Given the description of an element on the screen output the (x, y) to click on. 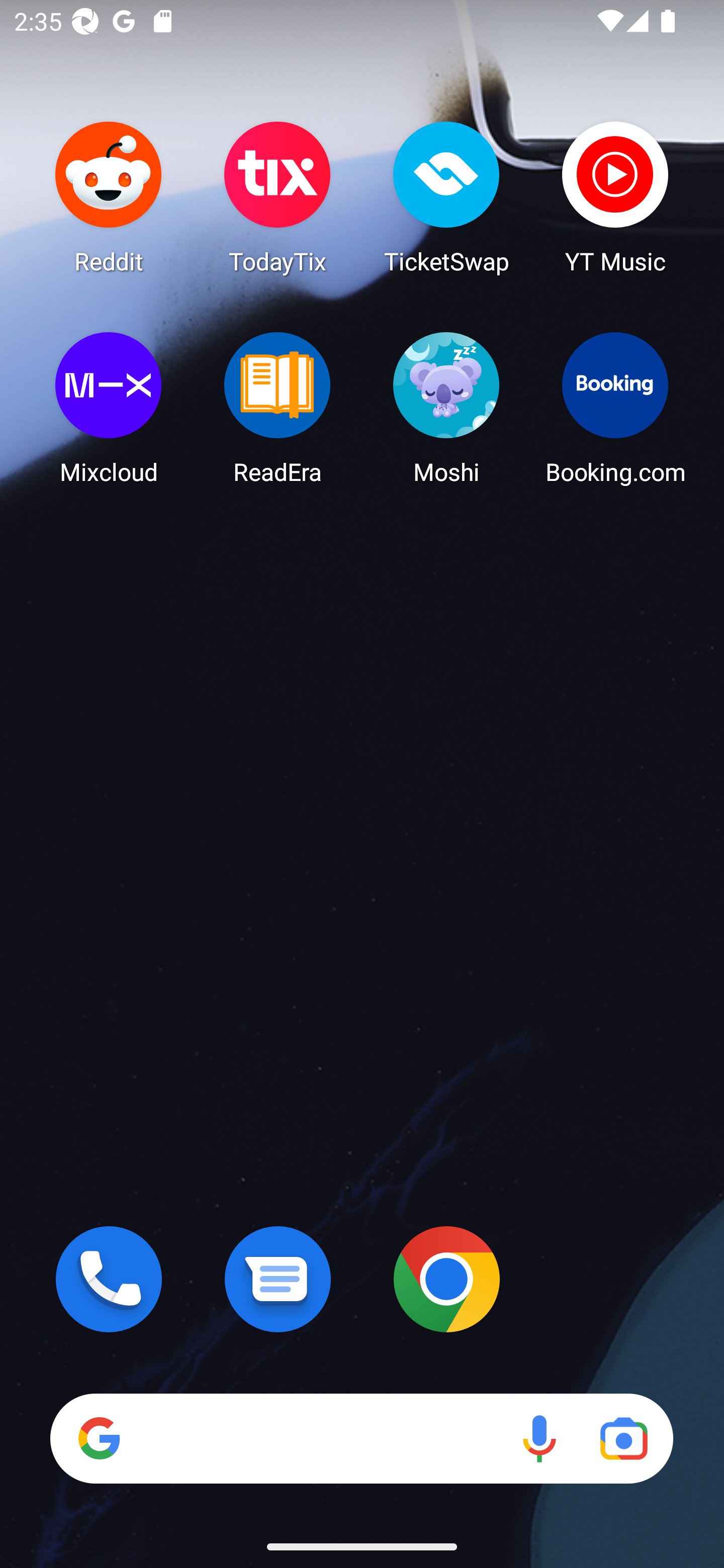
Reddit (108, 196)
TodayTix (277, 196)
TicketSwap (445, 196)
YT Music (615, 196)
Mixcloud (108, 407)
ReadEra (277, 407)
Moshi (445, 407)
Booking.com (615, 407)
Phone (108, 1279)
Messages (277, 1279)
Chrome (446, 1279)
Search Voice search Google Lens (361, 1438)
Voice search (539, 1438)
Google Lens (623, 1438)
